Given the description of an element on the screen output the (x, y) to click on. 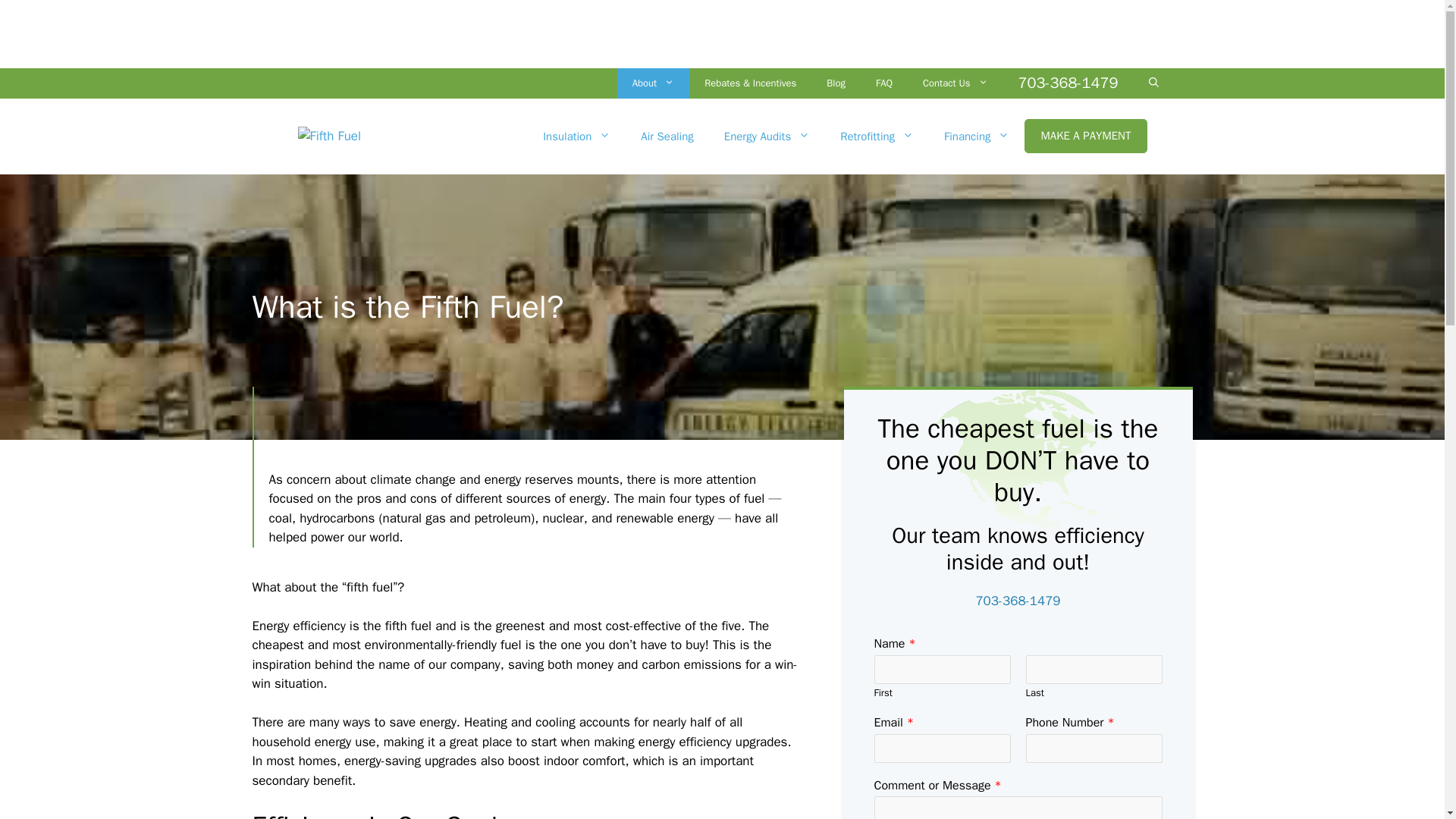
Blog (835, 82)
MAKE A PAYMENT (1086, 135)
Financing (976, 135)
Energy Audits (767, 135)
About (652, 82)
Retrofitting (876, 135)
Air Sealing (667, 135)
Contact Us (955, 82)
703-368-1479 (1068, 82)
FAQ (883, 82)
